Given the description of an element on the screen output the (x, y) to click on. 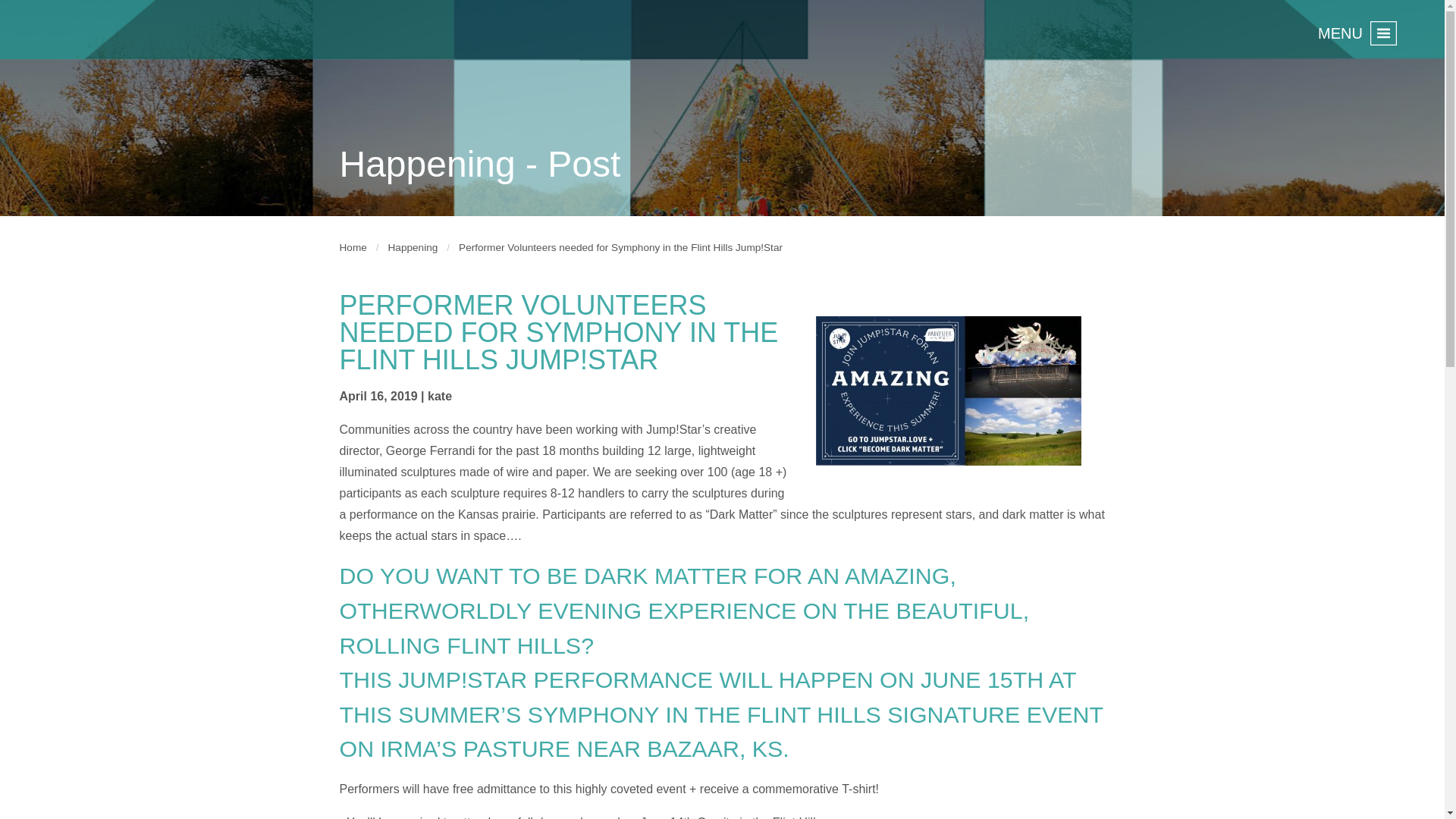
MENU (1356, 27)
Happening (413, 247)
Home (352, 247)
